Given the description of an element on the screen output the (x, y) to click on. 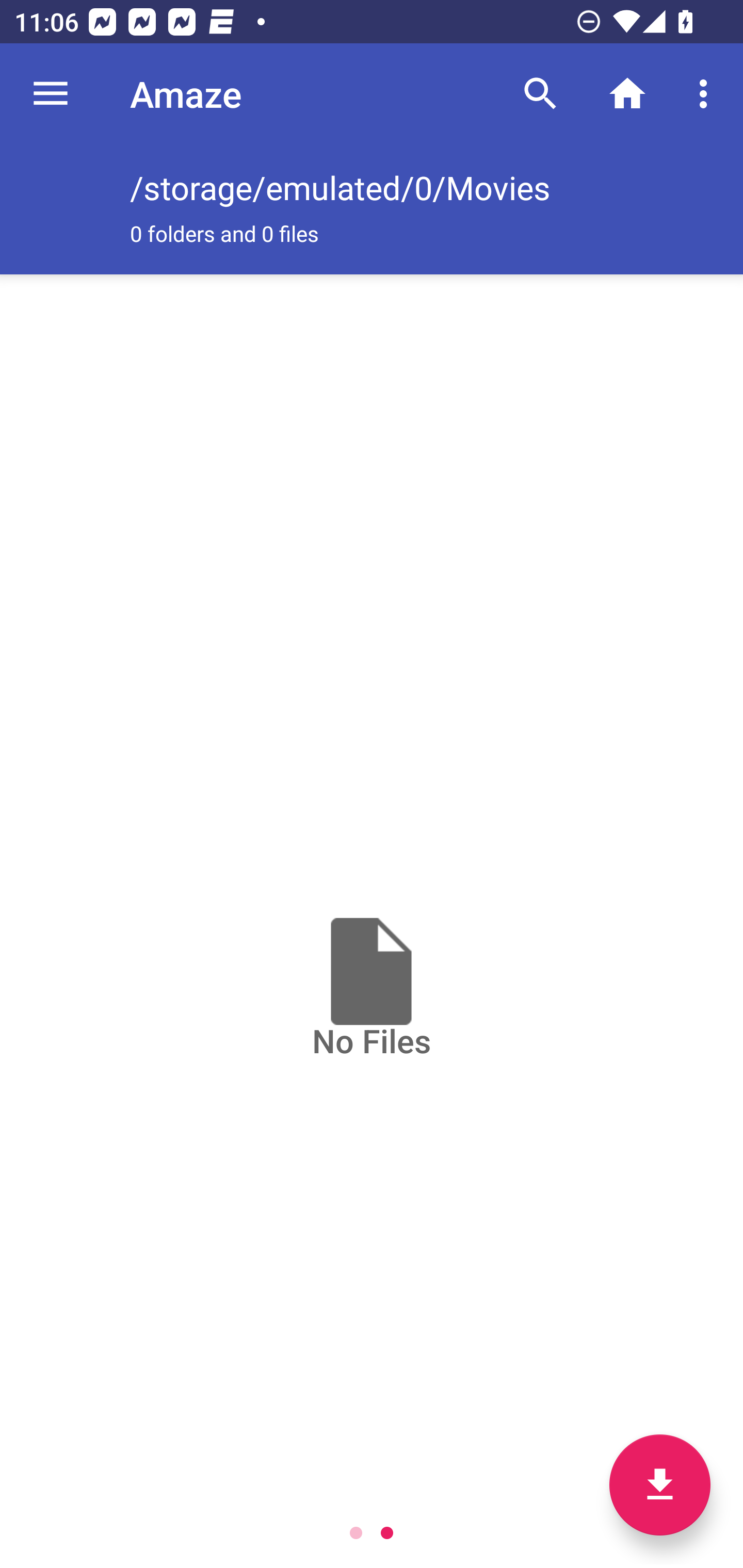
Navigate up (50, 93)
Search (540, 93)
Home (626, 93)
More options (706, 93)
